Given the description of an element on the screen output the (x, y) to click on. 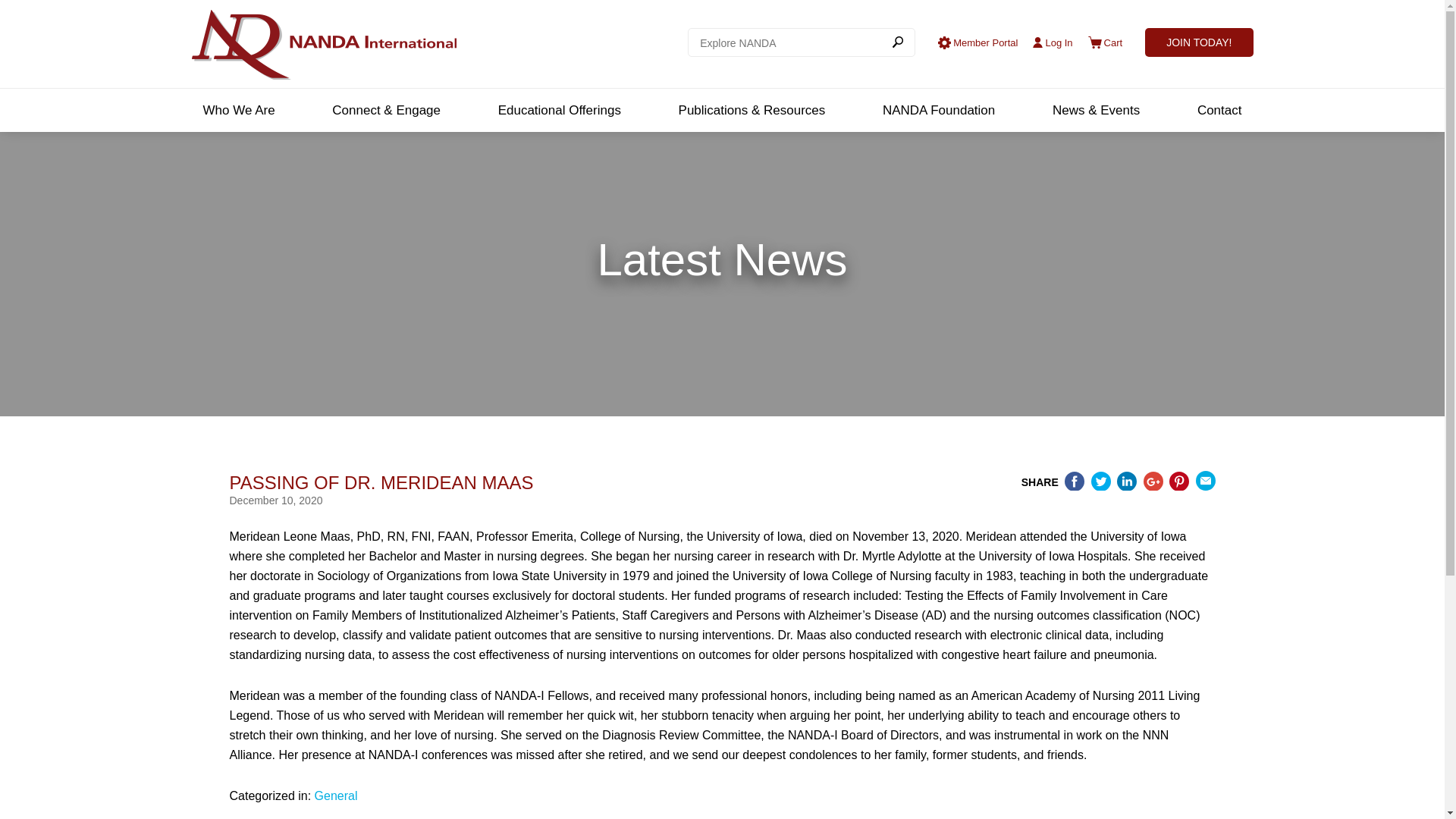
Who We Are (243, 109)
Member Portal (977, 42)
JOIN TODAY! (1198, 41)
Educational Offerings (564, 109)
Log In (1051, 41)
Cart (1104, 42)
